Given the description of an element on the screen output the (x, y) to click on. 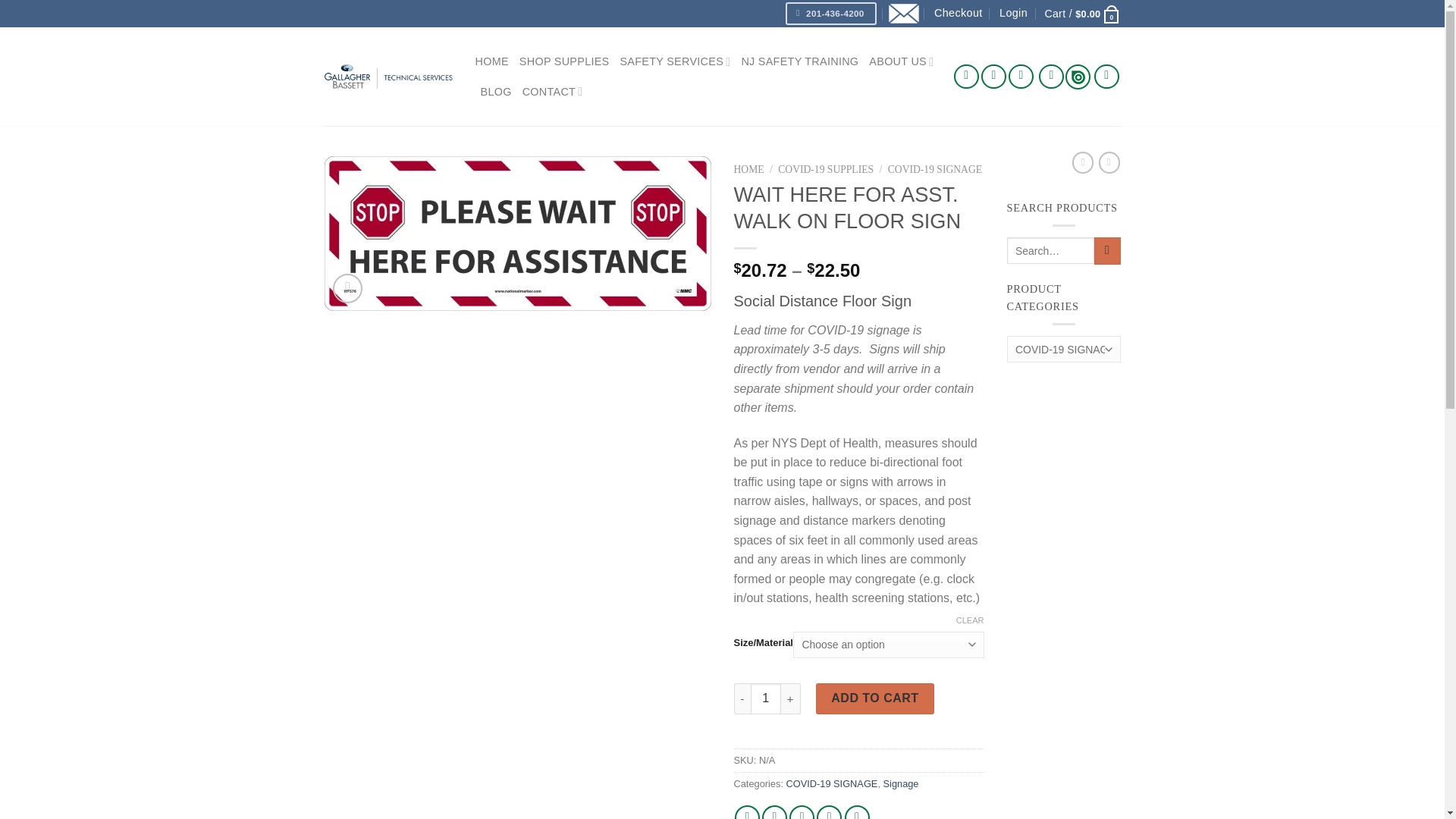
Follow on Instagram (993, 76)
Follow on Issuu (1077, 75)
Join our mailing list (903, 13)
SHOP SUPPLIES (564, 61)
Follow on Facebook (965, 76)
Checkout (958, 12)
Cart (1081, 13)
ABOUT US (901, 61)
Safety Supplies Unlimited - Safety Is No Accident (388, 76)
Subscribe on Youtube (1106, 76)
